Given the description of an element on the screen output the (x, y) to click on. 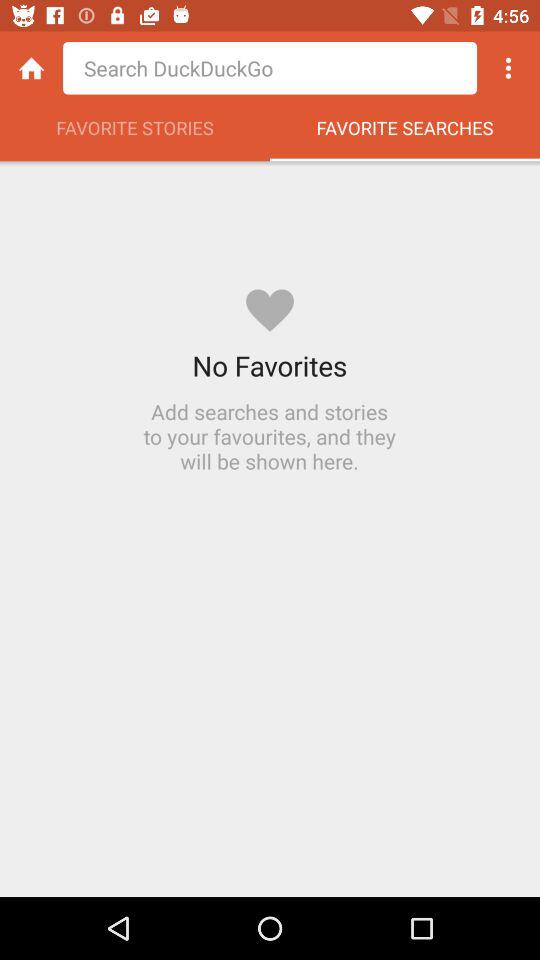
more (508, 68)
